Given the description of an element on the screen output the (x, y) to click on. 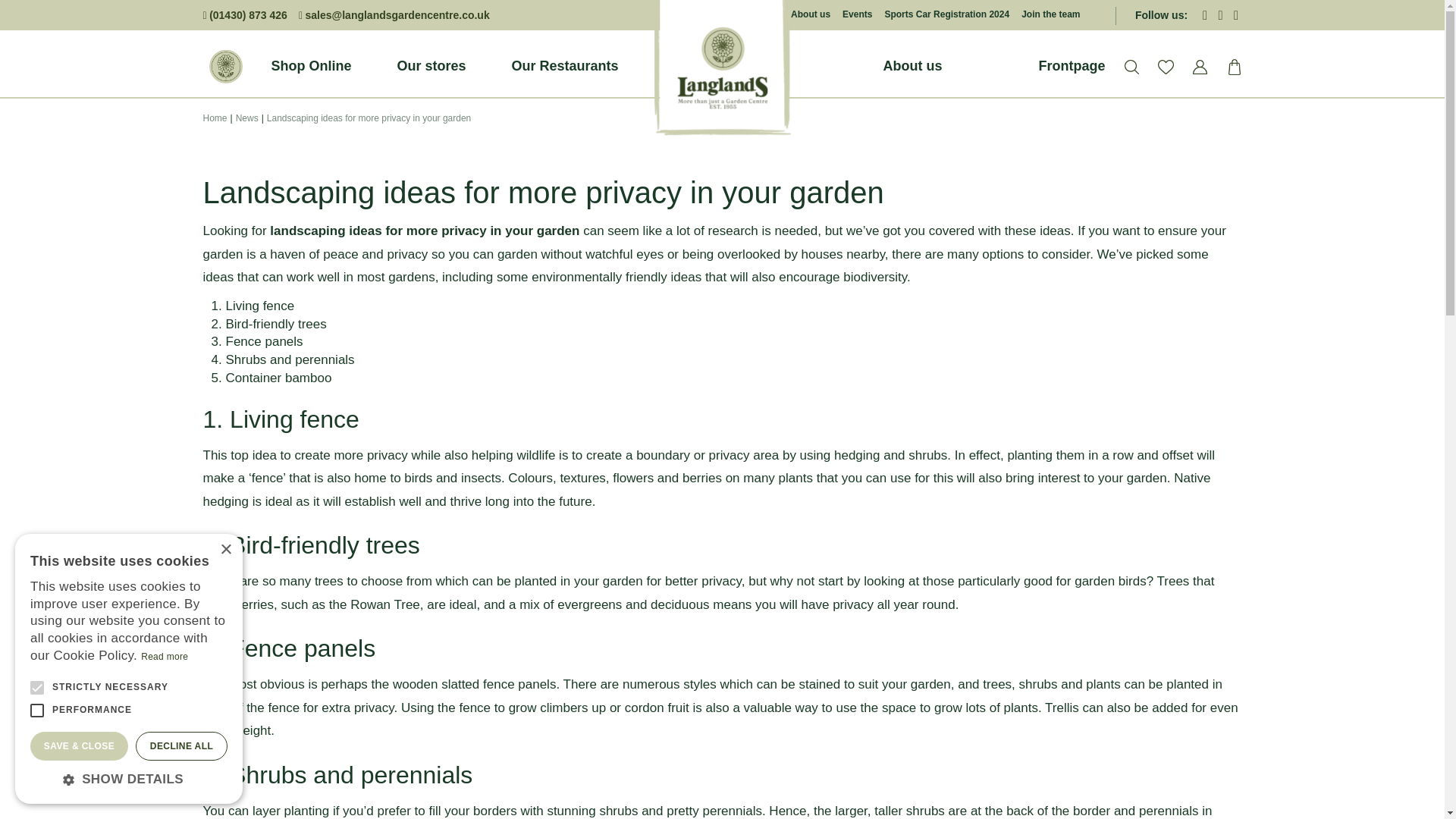
Shop Online (311, 65)
Landscaping ideas for more privacy in your garden (368, 118)
Home (225, 66)
Langlands Garden Centre (721, 67)
Our stores (431, 65)
News (247, 118)
News (247, 118)
Frontpage (1072, 65)
Search (1212, 95)
Our stores (431, 65)
Home (215, 118)
search (1131, 66)
Vacancies (1050, 14)
Home (225, 66)
Sports Car Registration 2024 (945, 14)
